Given the description of an element on the screen output the (x, y) to click on. 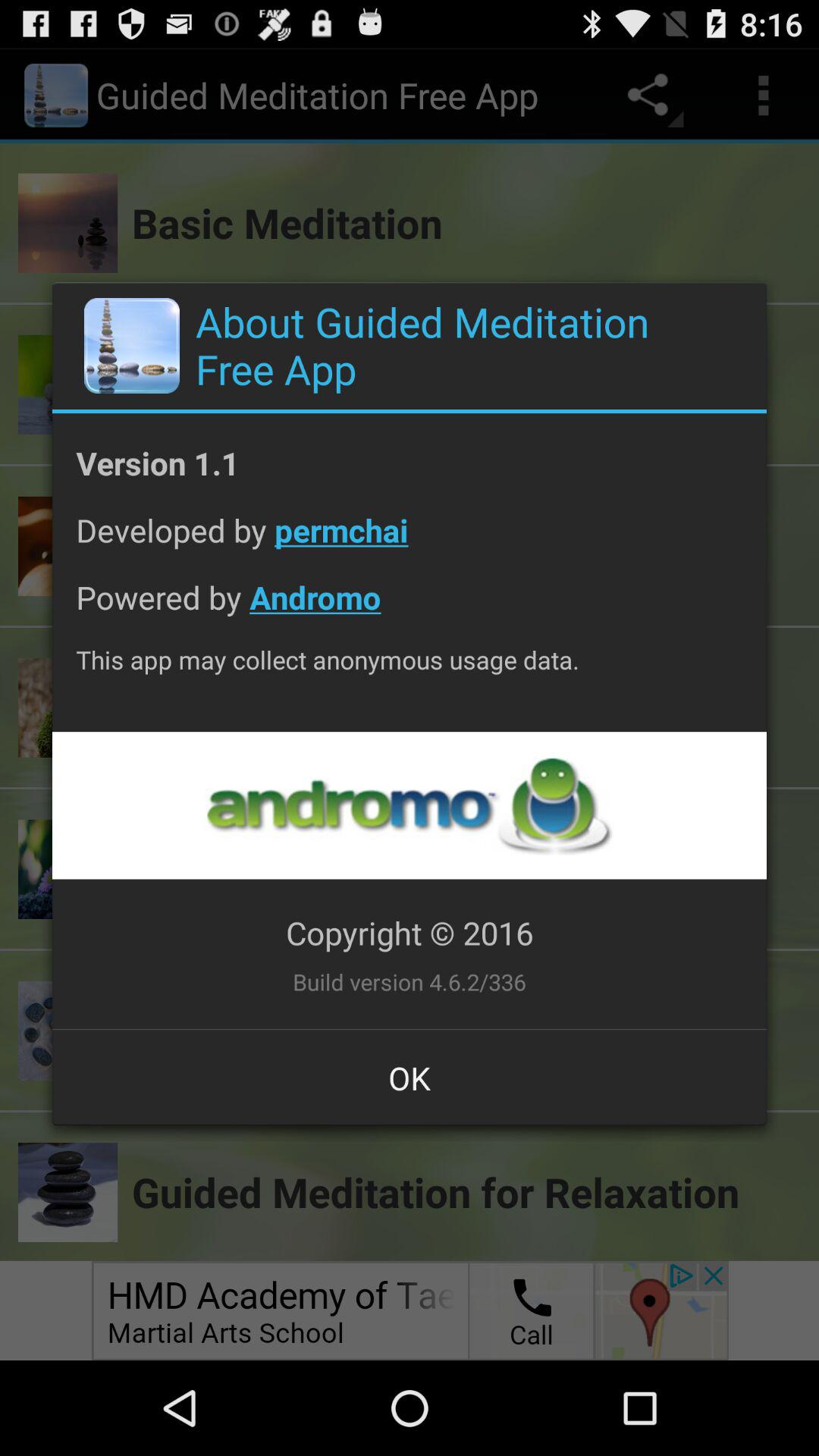
tap the app below this app may item (408, 805)
